Given the description of an element on the screen output the (x, y) to click on. 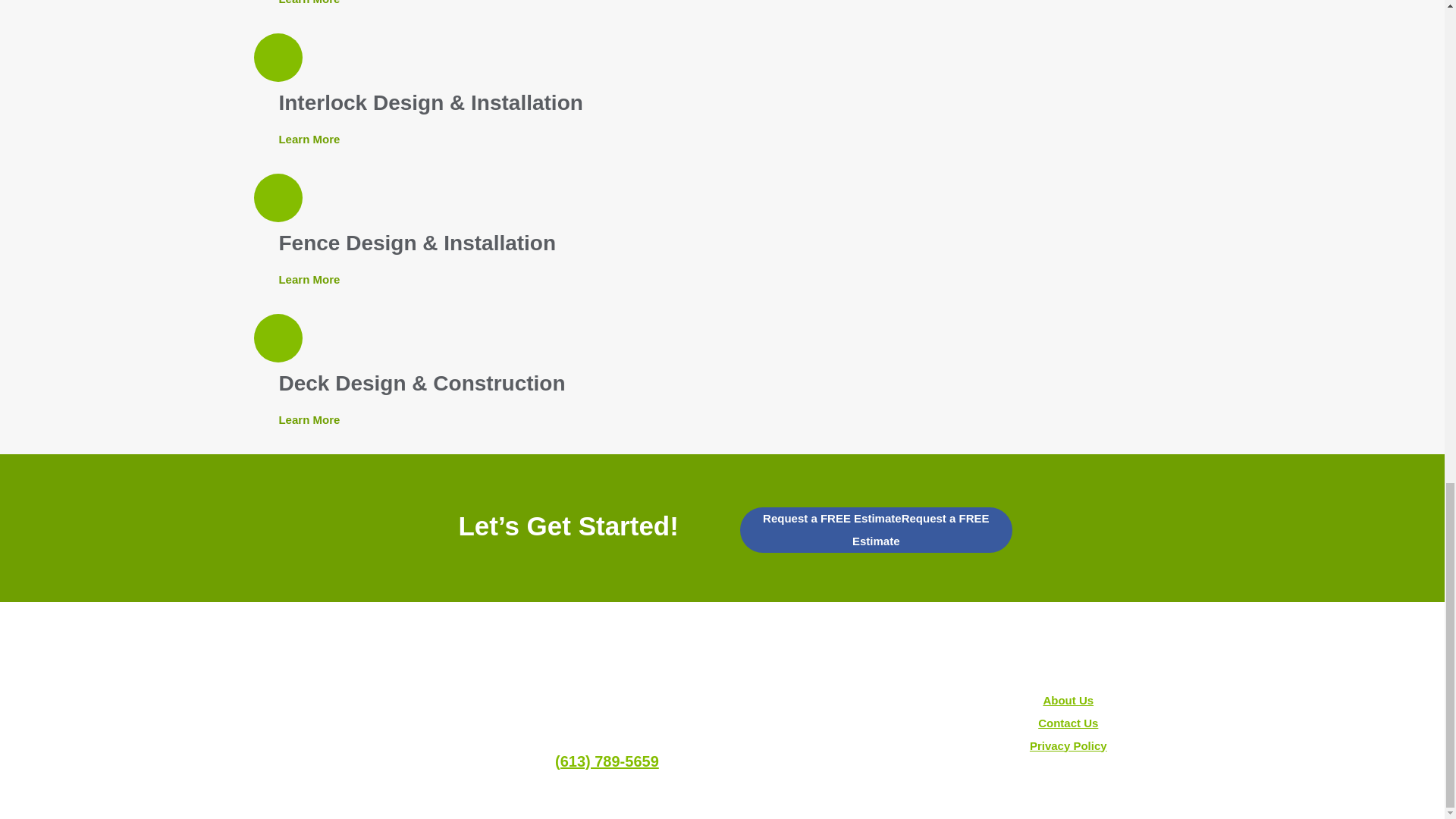
Contact Us (1067, 722)
Request a FREE EstimateRequest a FREE Estimate (875, 529)
Learn More (308, 278)
Learn More (308, 419)
Learn More (308, 138)
About Us (1067, 699)
Learn More (308, 2)
Privacy Policy (1067, 745)
